Given the description of an element on the screen output the (x, y) to click on. 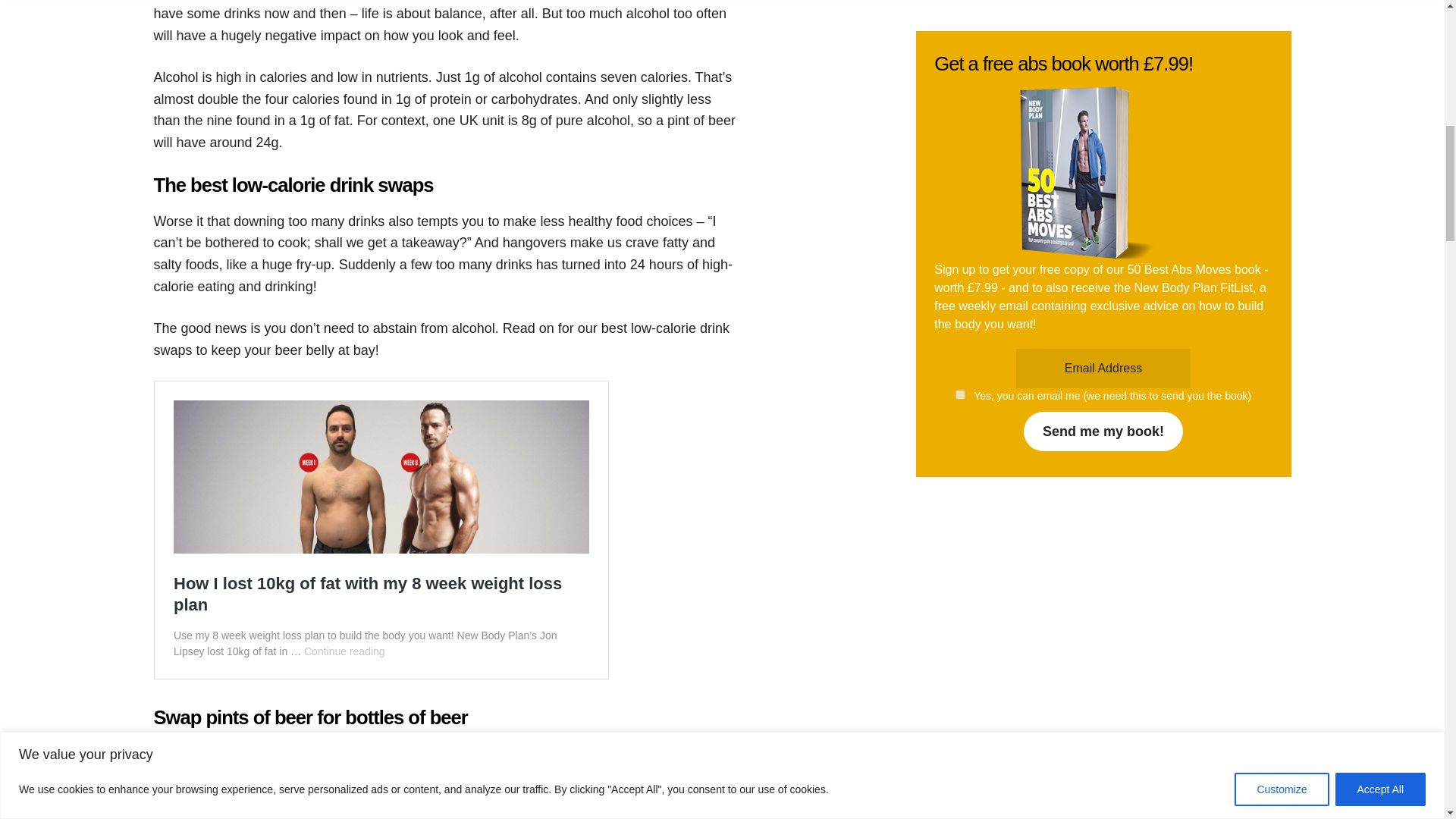
Send me my book! (1102, 250)
1 (960, 214)
